Given the description of an element on the screen output the (x, y) to click on. 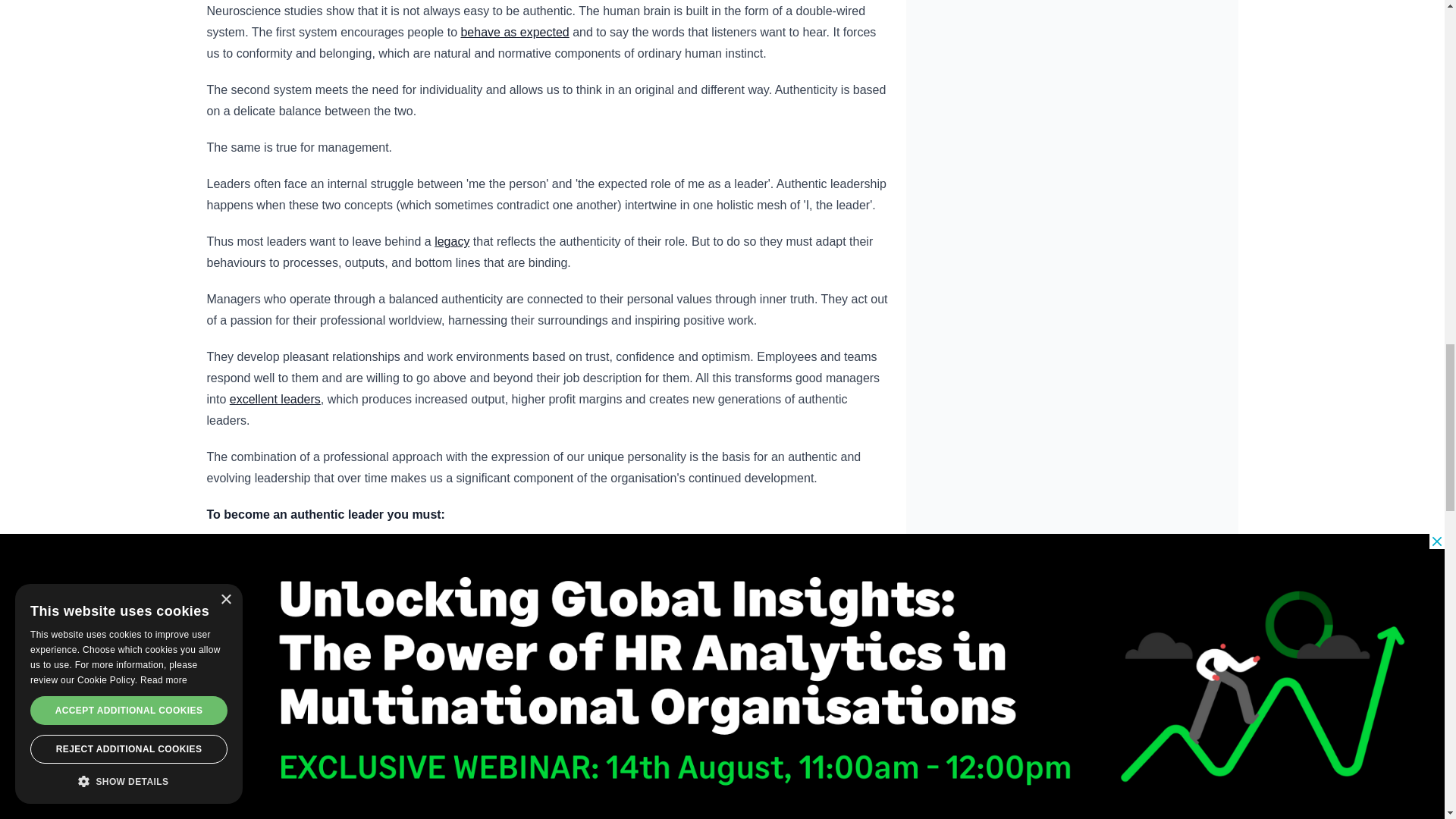
3rd party ad content (1072, 89)
A royal arrival: Lessons in engagement and inclusion (514, 31)
Cutting through complexity with internal communications (684, 586)
